Given the description of an element on the screen output the (x, y) to click on. 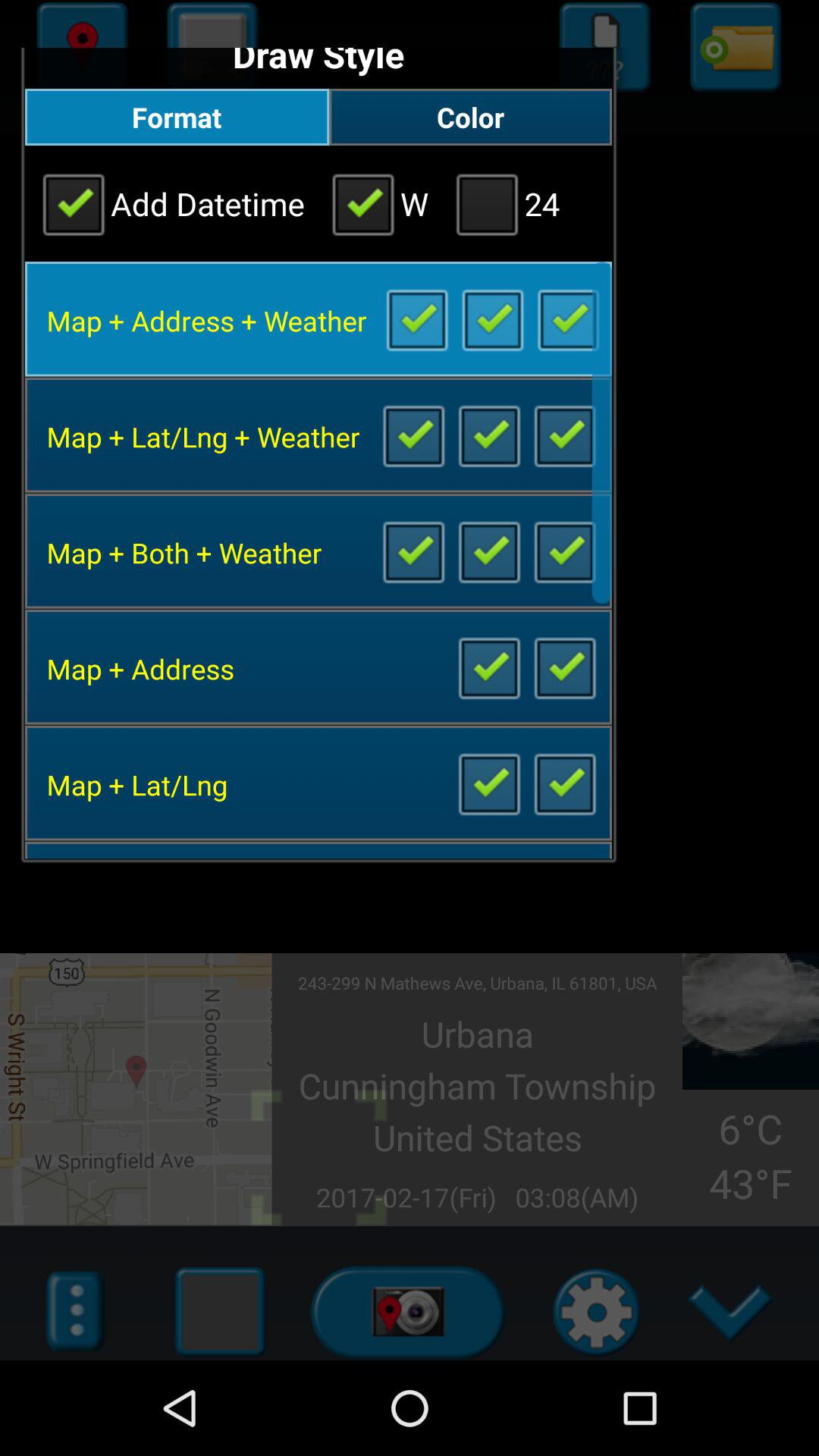
select map (413, 550)
